Given the description of an element on the screen output the (x, y) to click on. 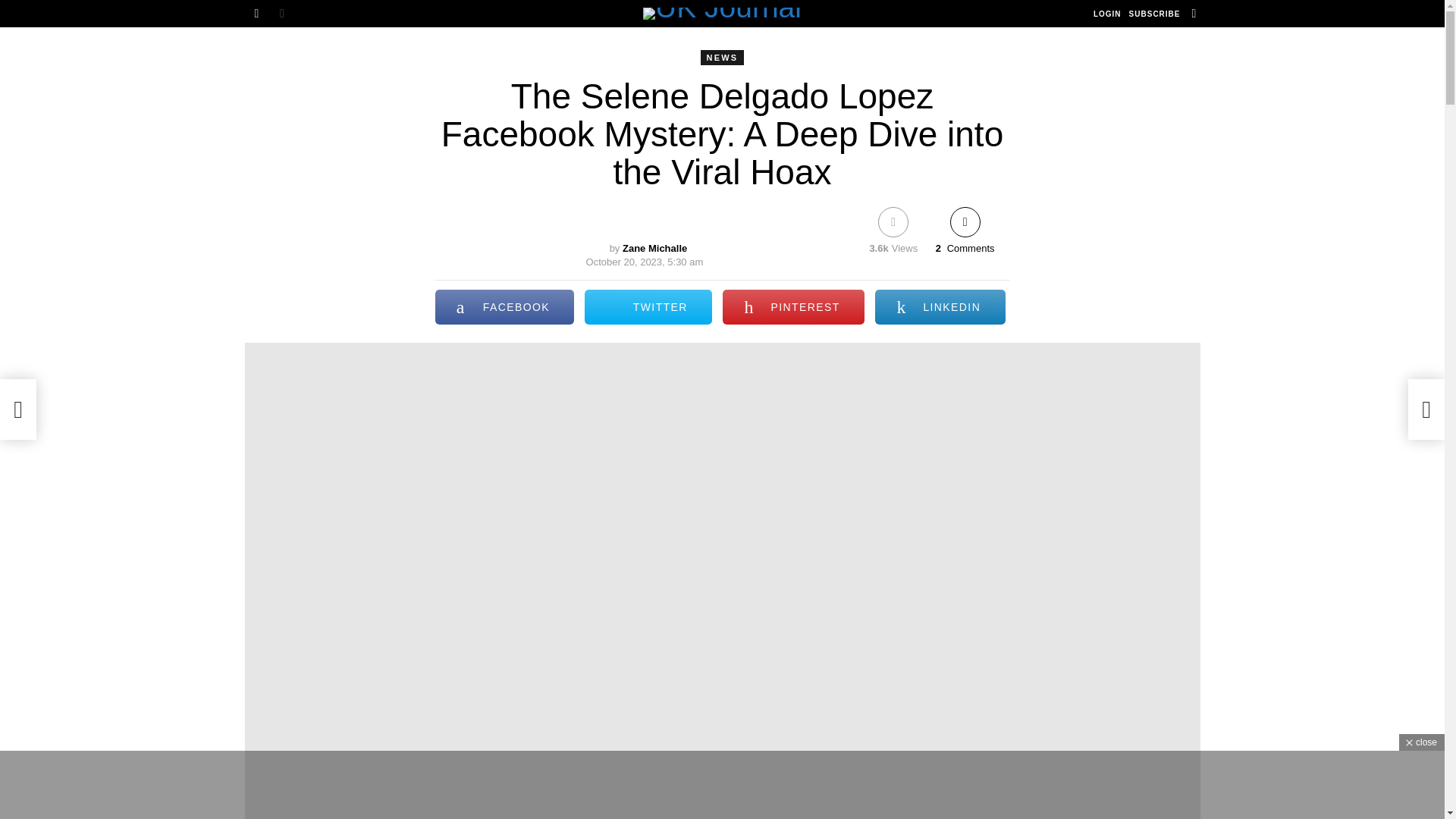
Share on LinkedIn (939, 306)
Zane Michalle (655, 247)
LINKEDIN (939, 306)
NEWS (722, 57)
Share on Twitter (648, 306)
PINTEREST (793, 306)
Share on Pinterest (793, 306)
FACEBOOK (505, 306)
TWITTER (648, 306)
Share on Facebook (505, 306)
